Given the description of an element on the screen output the (x, y) to click on. 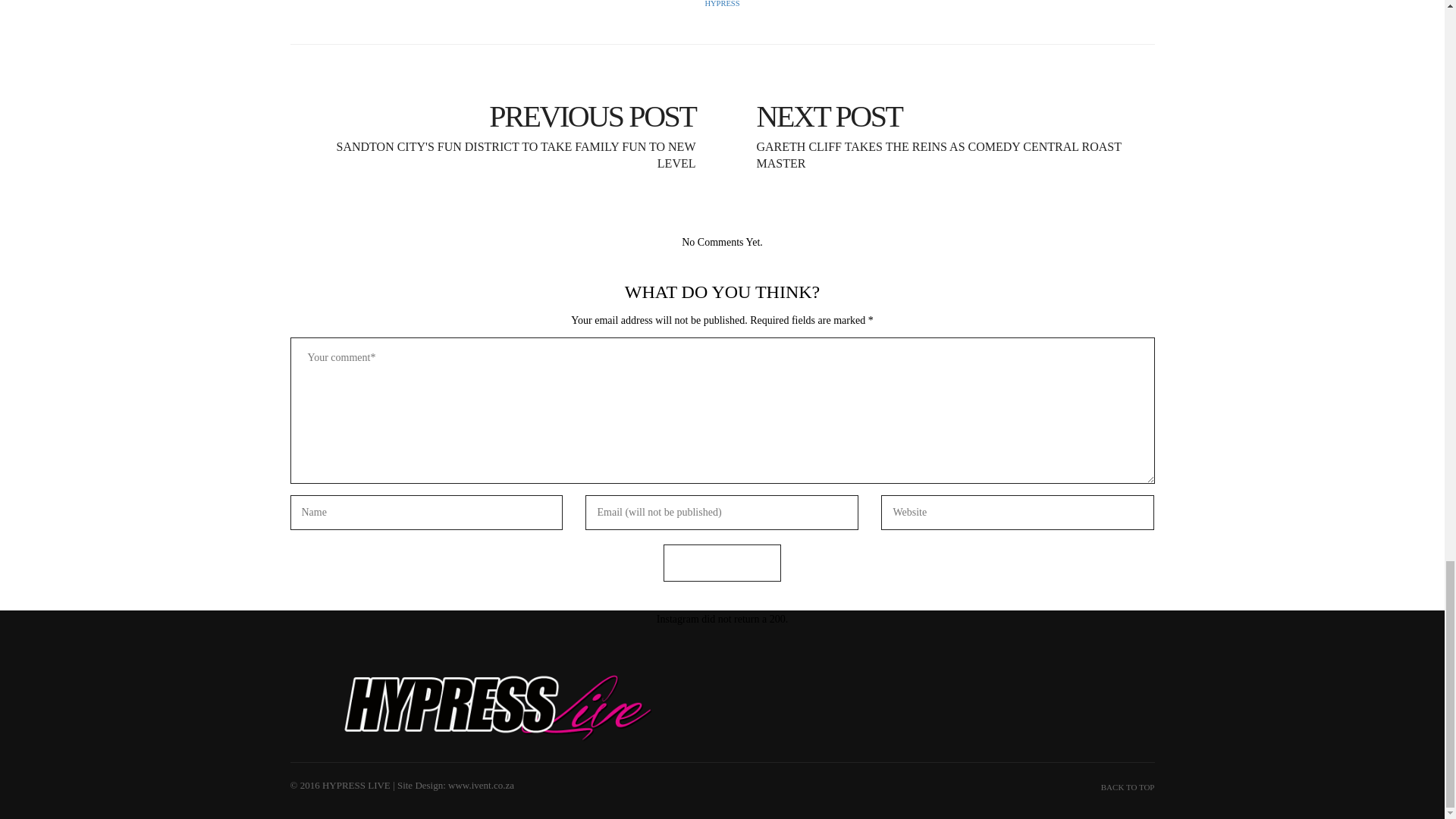
SANDTON CITY'S FUN DISTRICT TO TAKE FAMILY FUN TO NEW LEVEL (499, 123)
Post comment (721, 562)
BACK TO TOP (1127, 786)
GARETH CLIFF TAKES THE REINS AS COMEDY CENTRAL ROAST MASTER (943, 123)
Post comment (721, 562)
Posts by hypress (721, 3)
Lifestyle and Culture Destination (499, 706)
HYPRESS (721, 3)
